Given the description of an element on the screen output the (x, y) to click on. 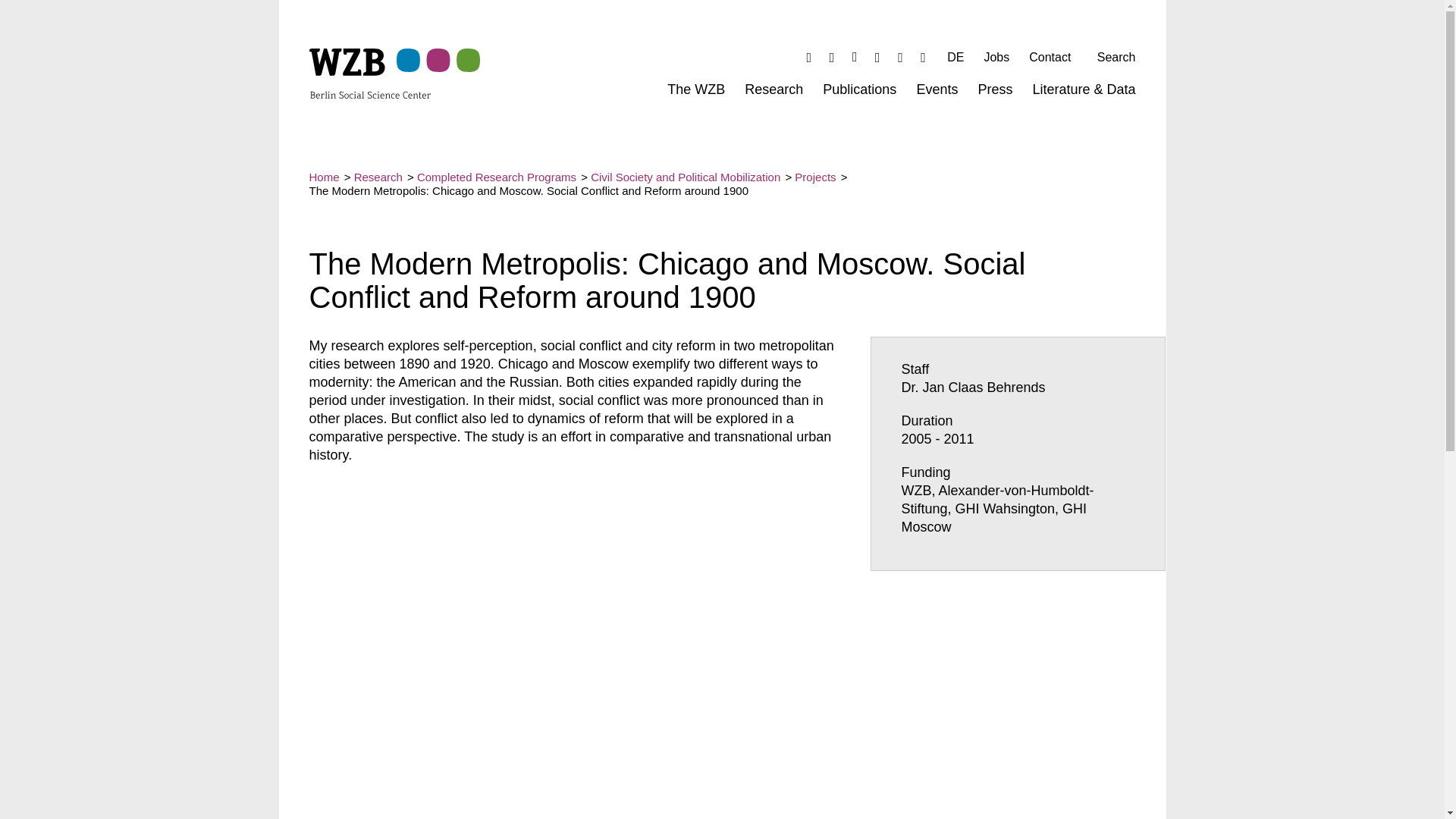
Instagram (854, 56)
X-Twitter (831, 56)
Job opportunities at the WZB (858, 93)
Sign Language (996, 60)
Contact (936, 93)
Youtube (922, 56)
